Given the description of an element on the screen output the (x, y) to click on. 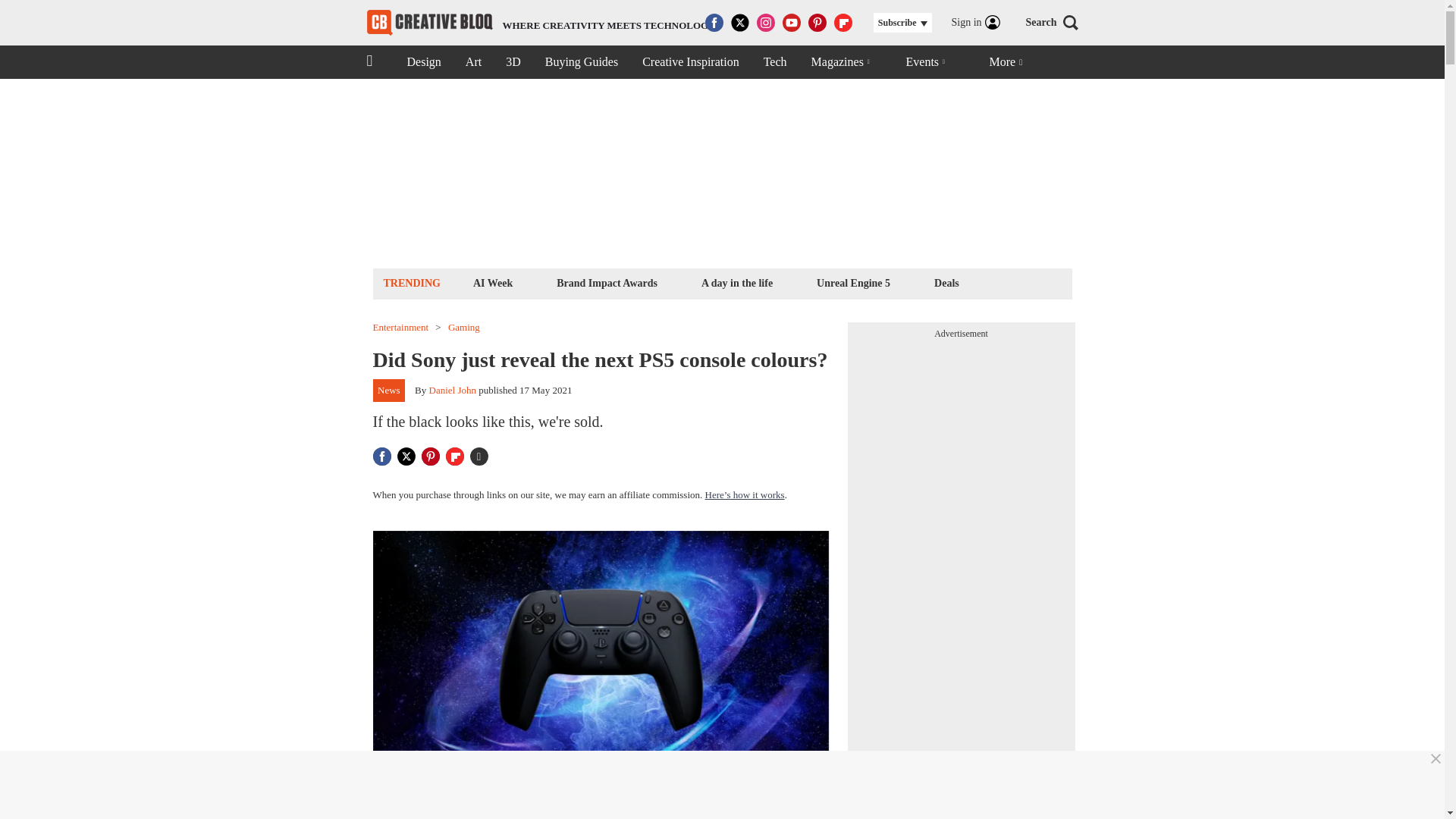
3D (512, 61)
Art (472, 61)
Gaming (464, 327)
Brand Impact Awards (606, 282)
Creative Inspiration (690, 61)
Design (423, 61)
Deals (945, 282)
A day in the life (736, 282)
Advertisement (541, 22)
Creative Bloq (852, 282)
Buying Guides (429, 22)
News (581, 61)
Daniel John (389, 390)
